Given the description of an element on the screen output the (x, y) to click on. 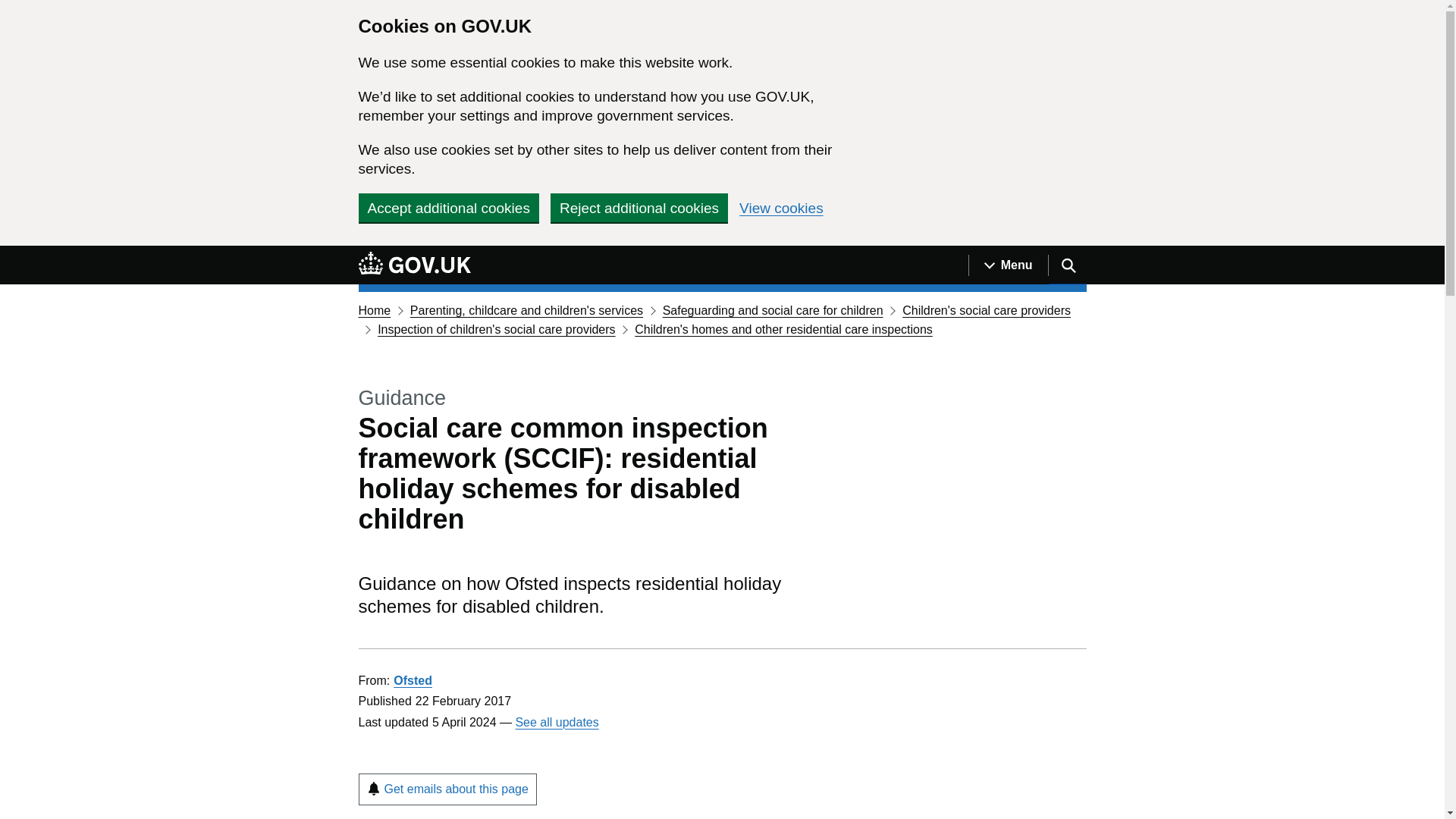
Get emails about this page (446, 789)
Parenting, childcare and children's services (526, 309)
Home (374, 309)
Skip to main content (11, 254)
Safeguarding and social care for children (772, 309)
Ofsted (412, 680)
GOV.UK (414, 262)
See all updates (556, 721)
Search GOV.UK (1067, 265)
Children's social care providers (986, 309)
View cookies (781, 207)
Accept additional cookies (448, 207)
Menu (1008, 265)
Reject additional cookies (639, 207)
Inspection of children's social care providers (495, 328)
